Given the description of an element on the screen output the (x, y) to click on. 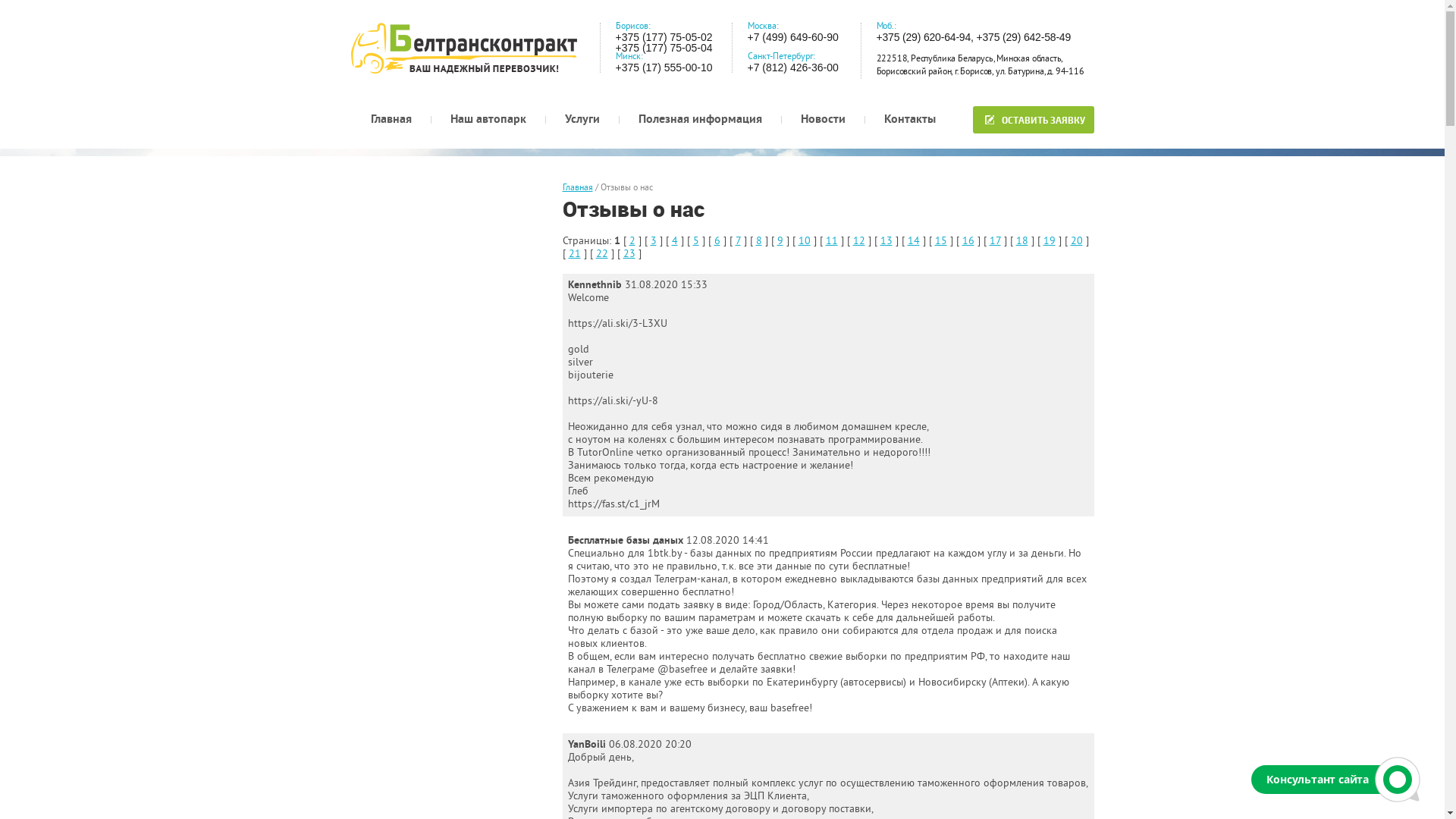
12 Element type: text (858, 241)
9 Element type: text (779, 241)
20 Element type: text (1076, 241)
19 Element type: text (1049, 241)
13 Element type: text (885, 241)
23 Element type: text (629, 253)
21 Element type: text (574, 253)
16 Element type: text (967, 241)
8 Element type: text (758, 241)
5 Element type: text (696, 241)
4 Element type: text (674, 241)
22 Element type: text (602, 253)
10 Element type: text (803, 241)
11 Element type: text (831, 241)
2 Element type: text (632, 241)
17 Element type: text (994, 241)
15 Element type: text (940, 241)
7 Element type: text (737, 241)
3 Element type: text (653, 241)
6 Element type: text (717, 241)
14 Element type: text (912, 241)
18 Element type: text (1022, 241)
